Given the description of an element on the screen output the (x, y) to click on. 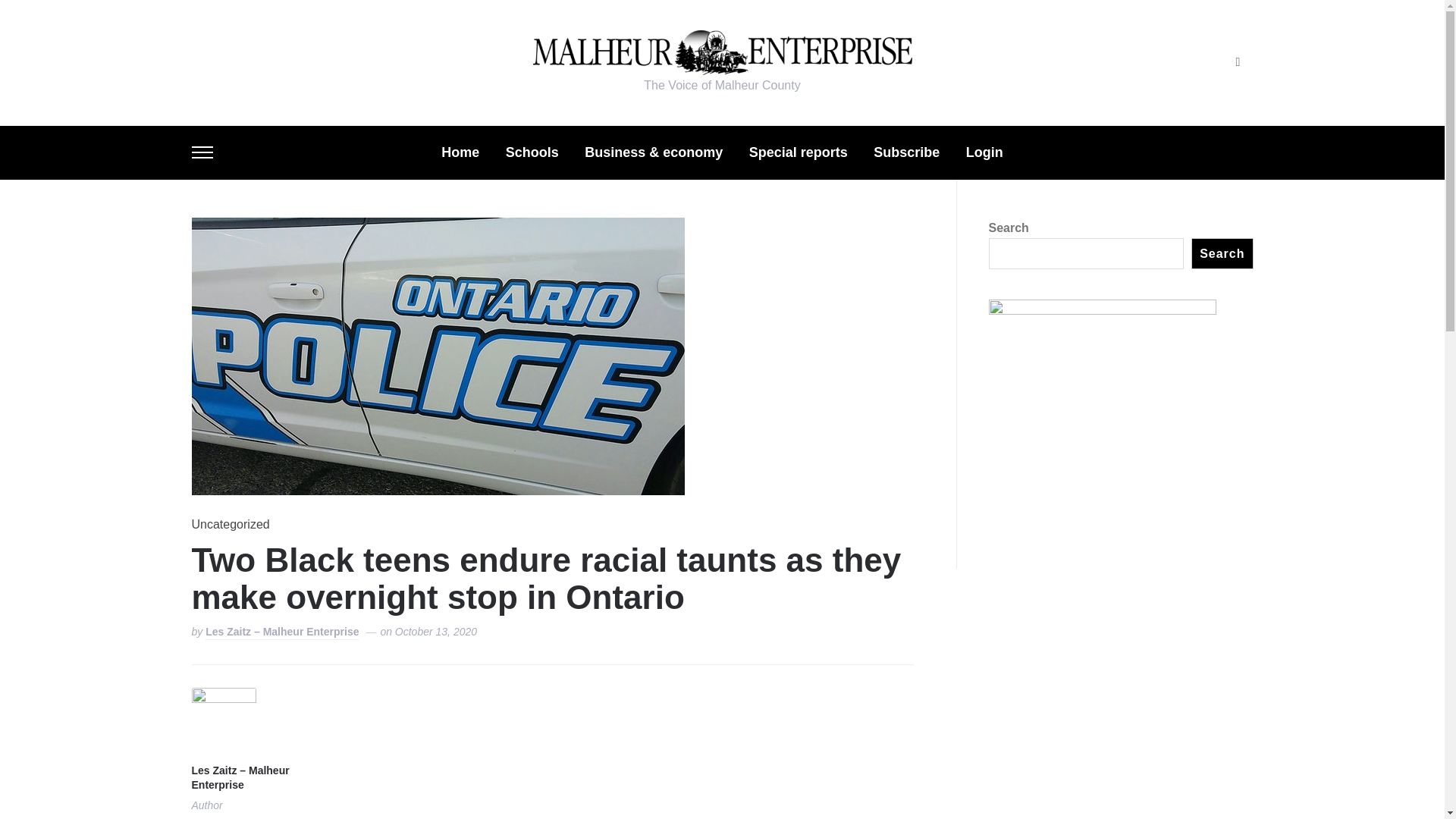
Special reports (798, 152)
Search (1237, 62)
Search (1221, 253)
Schools (532, 152)
Subscribe (906, 152)
Home (460, 152)
Login (984, 152)
